Given the description of an element on the screen output the (x, y) to click on. 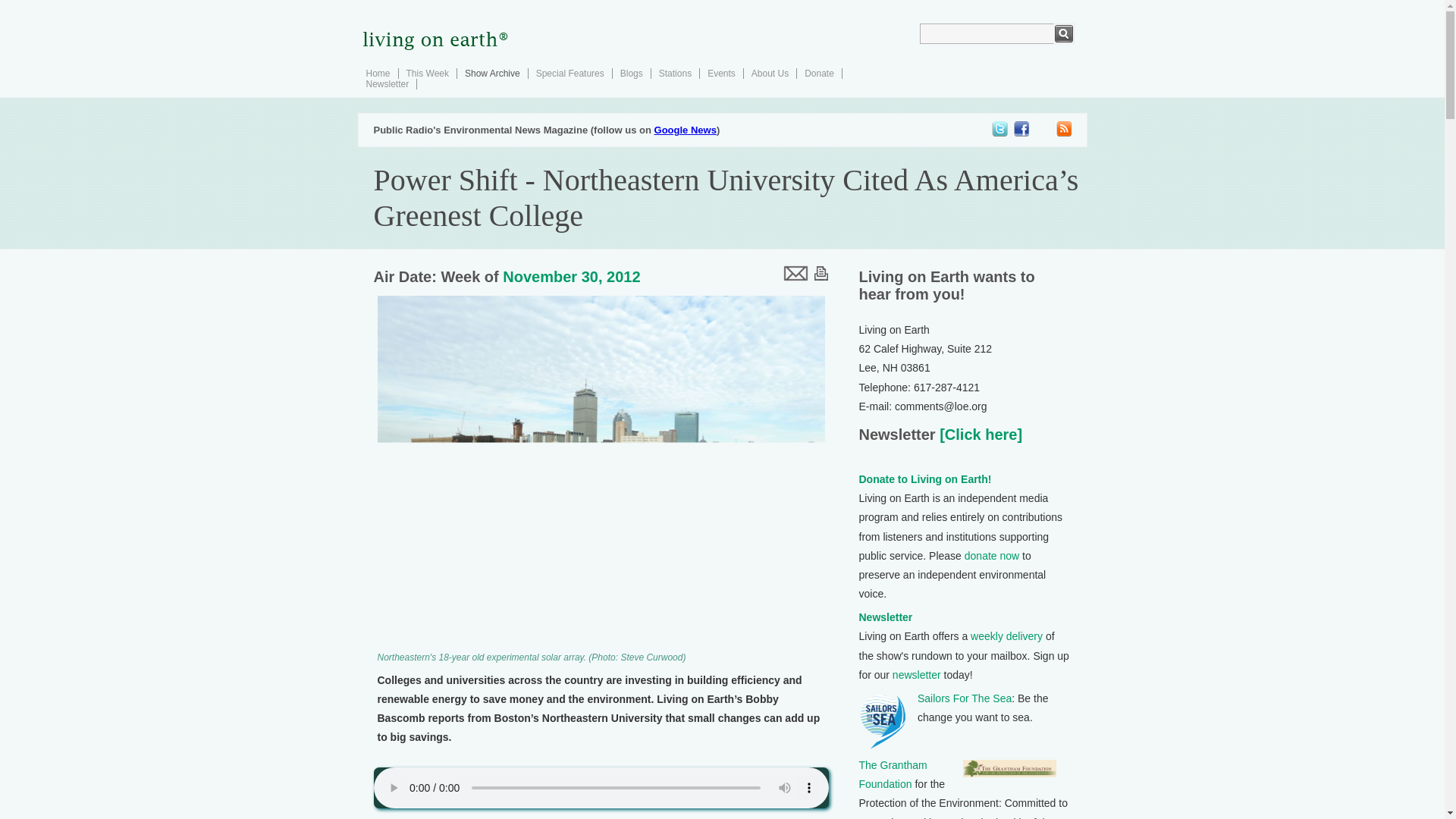
Show Archive (491, 72)
Events (721, 72)
Stations (675, 72)
Donate to Living on Earth! (925, 479)
Google News (684, 129)
Donate (819, 72)
About Us (770, 72)
November 30, 2012 (571, 276)
This Week (427, 72)
weekly delivery (1006, 635)
Newsletter (387, 83)
Blogs (631, 72)
Home (377, 72)
donate now (991, 555)
email (794, 271)
